Given the description of an element on the screen output the (x, y) to click on. 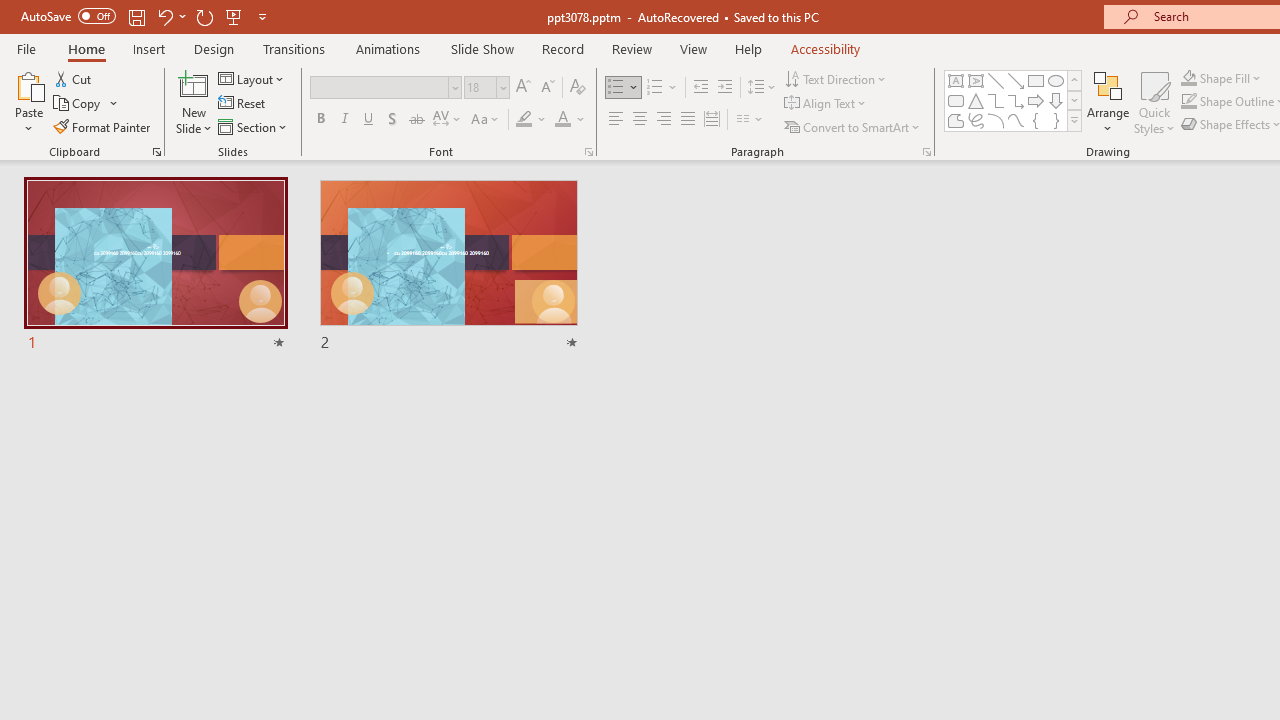
Shape Outline Green, Accent 1 (1188, 101)
